Given the description of an element on the screen output the (x, y) to click on. 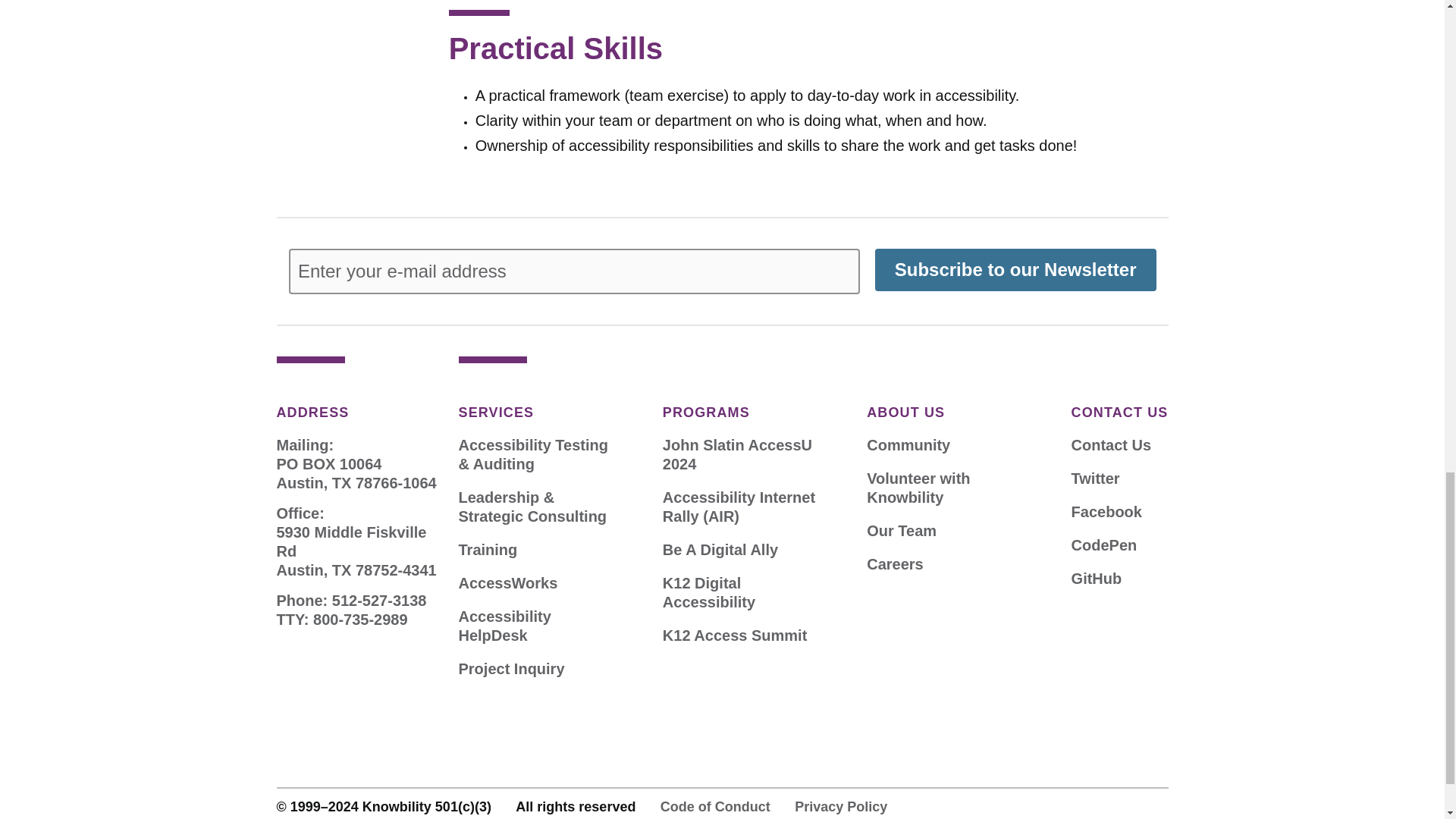
Project Inquiry (511, 669)
Training (487, 549)
Accessibility HelpDesk (539, 626)
AccessWorks (507, 583)
John Slatin AccessU 2024 (744, 454)
Be A Digital Ally (719, 549)
Subscribe to our Newsletter (1015, 269)
Subscribe to our Newsletter (1015, 269)
